Given the description of an element on the screen output the (x, y) to click on. 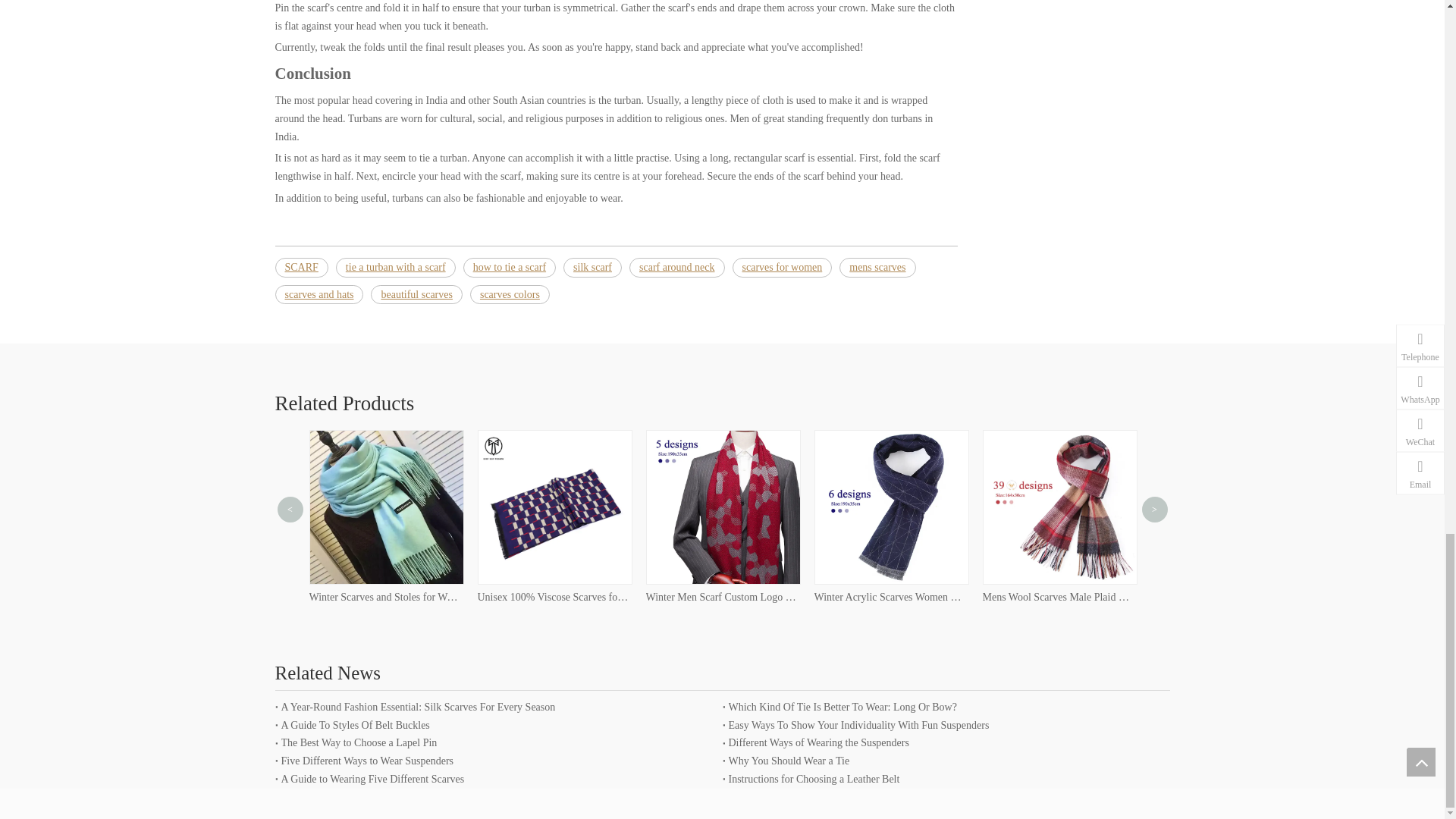
scarf around neck (676, 267)
SCARF (301, 267)
tie a turban with a scarf (395, 267)
Winter Men Scarf Custom Logo Scarves (722, 597)
scarves colors (510, 294)
silk scarf (592, 267)
how to tie a scarf (509, 267)
scarves and hats (318, 294)
Mens Wool Scarves Male Plaid Business Scarves (1058, 597)
Winter Acrylic Scarves Women Men Scarves Accessories (890, 597)
scarves for women (782, 267)
beautiful scarves (416, 294)
Winter Scarves and Stoles for Women Scarf Accessories (385, 597)
mens scarves (877, 267)
